Given the description of an element on the screen output the (x, y) to click on. 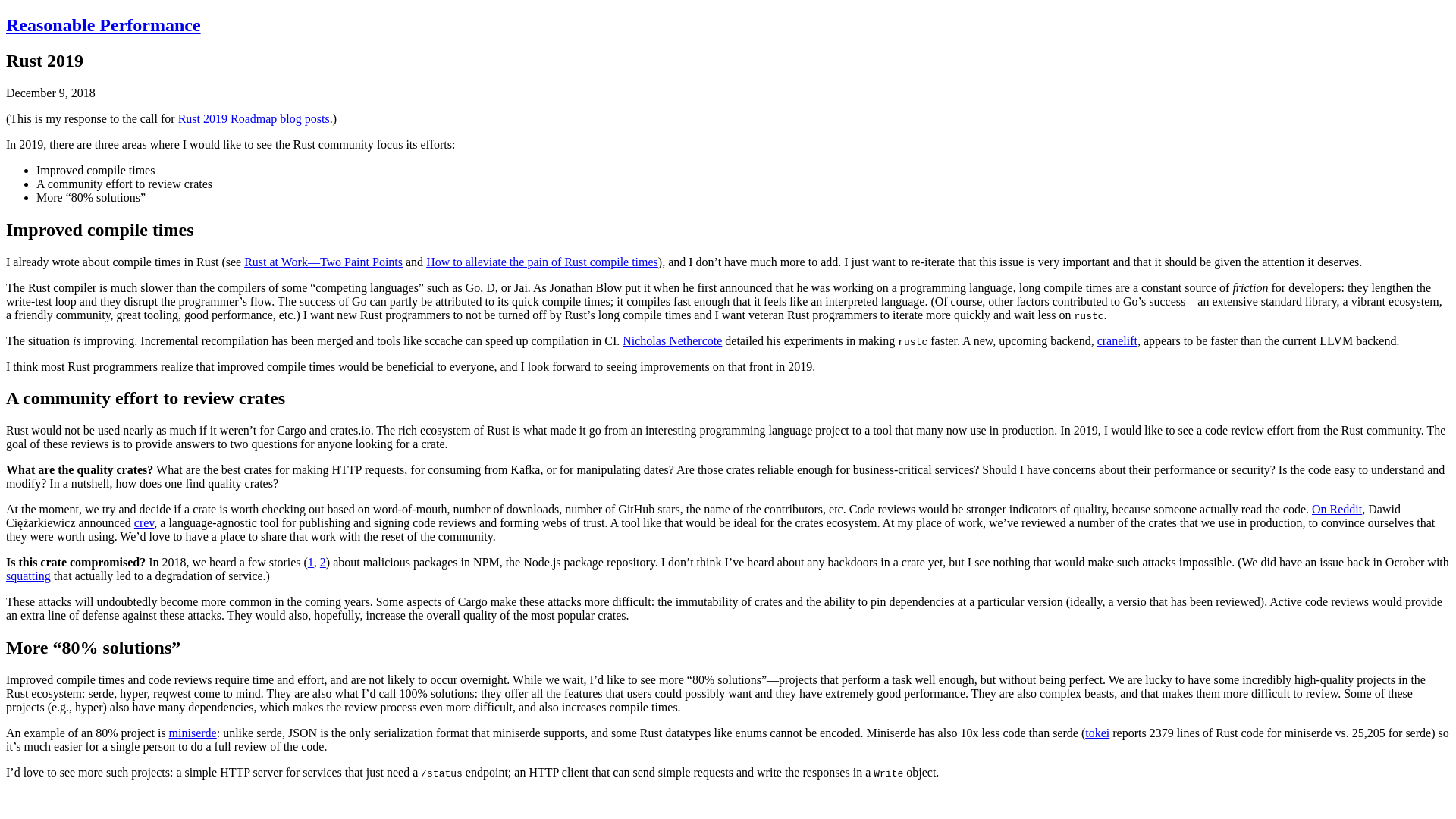
squatting (27, 575)
On Reddit (1336, 508)
Reasonable Performance (102, 25)
How to alleviate the pain of Rust compile times (542, 261)
Nicholas Nethercote (672, 340)
Rust 2019 Roadmap blog posts (253, 118)
tokei (1096, 732)
crev (143, 522)
cranelift (1117, 340)
miniserde (192, 732)
